Given the description of an element on the screen output the (x, y) to click on. 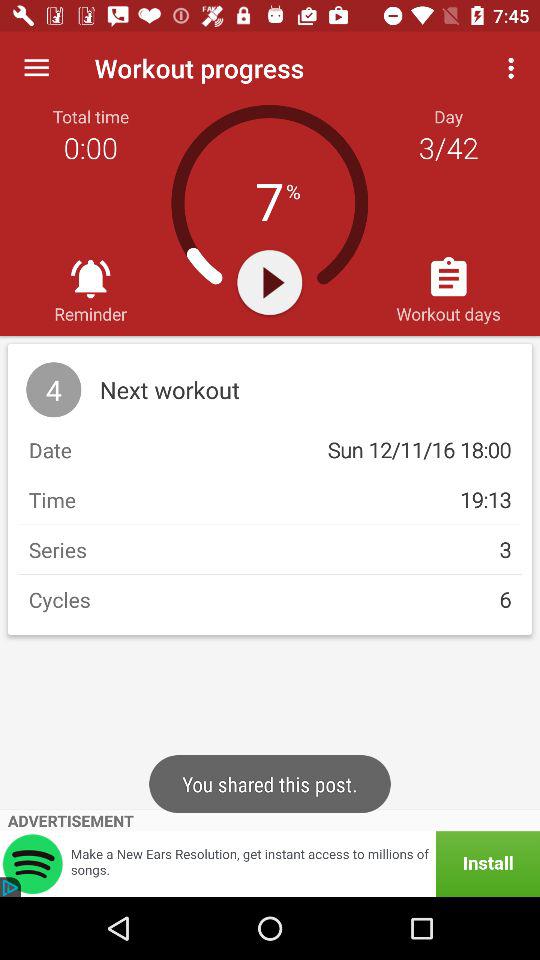
play (269, 282)
